Given the description of an element on the screen output the (x, y) to click on. 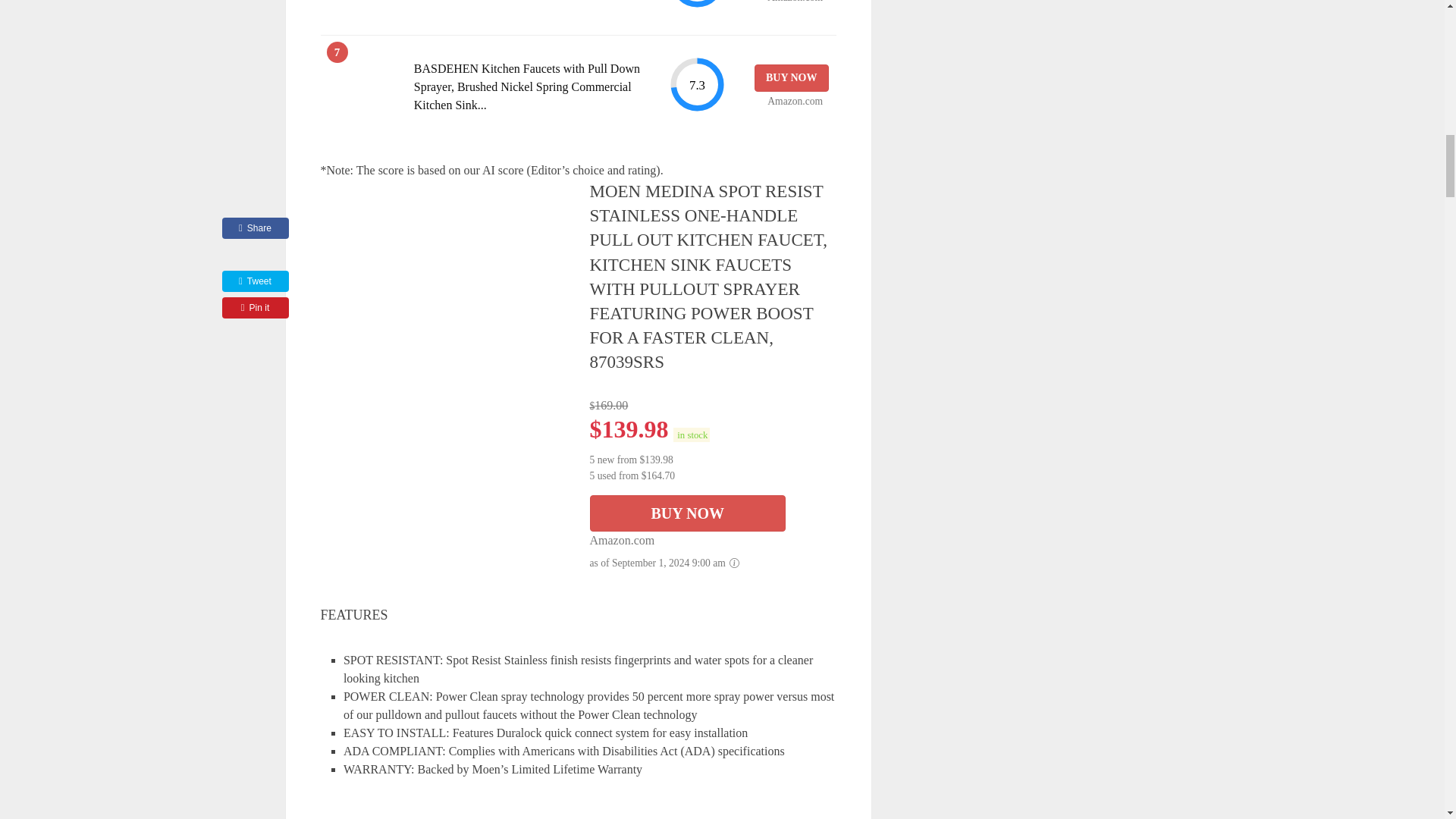
7.3 (696, 84)
7.9 (696, 4)
Last updated on September 1, 2024 9:00 am (691, 434)
